Given the description of an element on the screen output the (x, y) to click on. 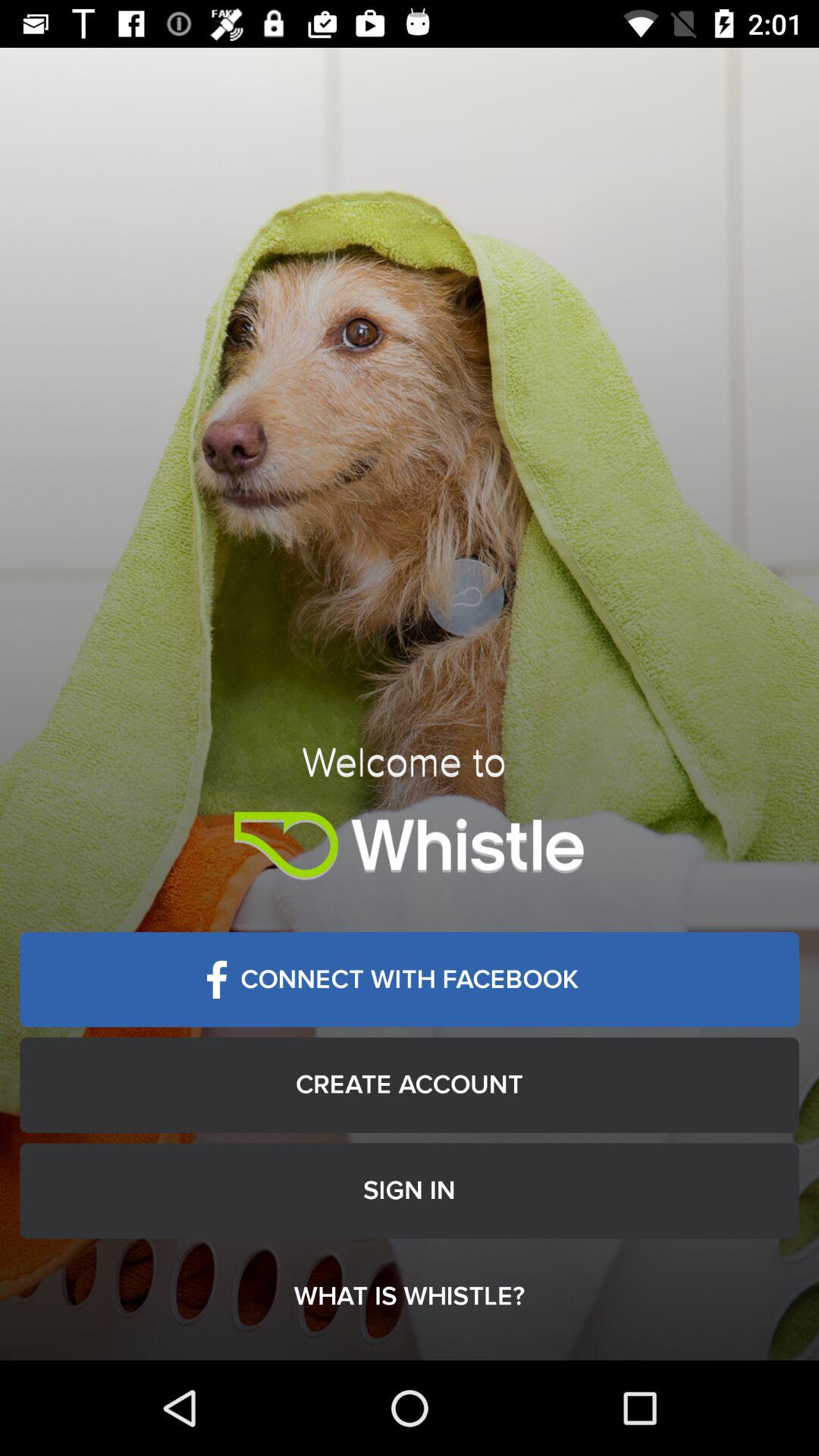
press the icon below the connect with facebook item (409, 1084)
